Given the description of an element on the screen output the (x, y) to click on. 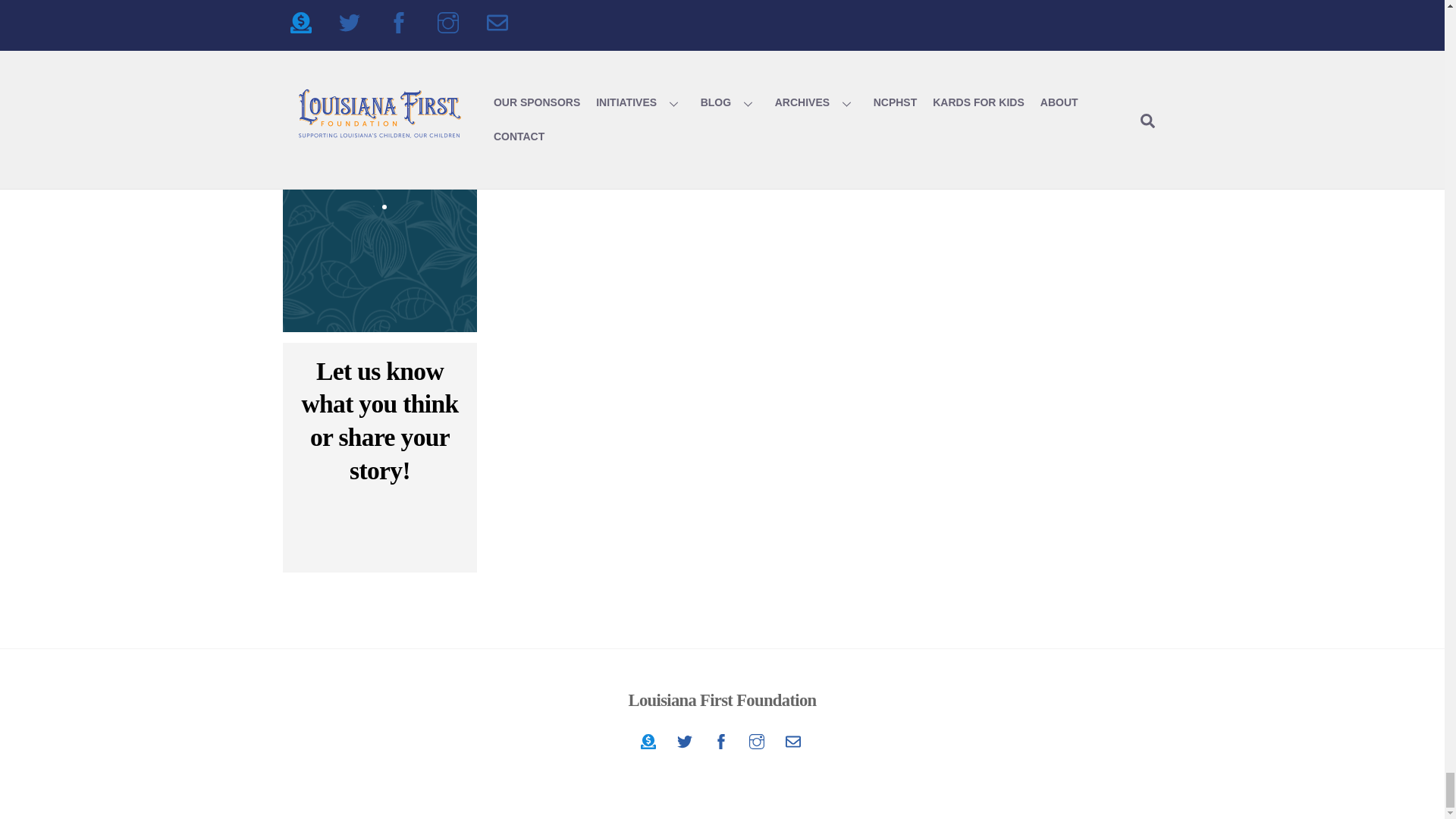
Louisiana First Foundation (721, 741)
